Given the description of an element on the screen output the (x, y) to click on. 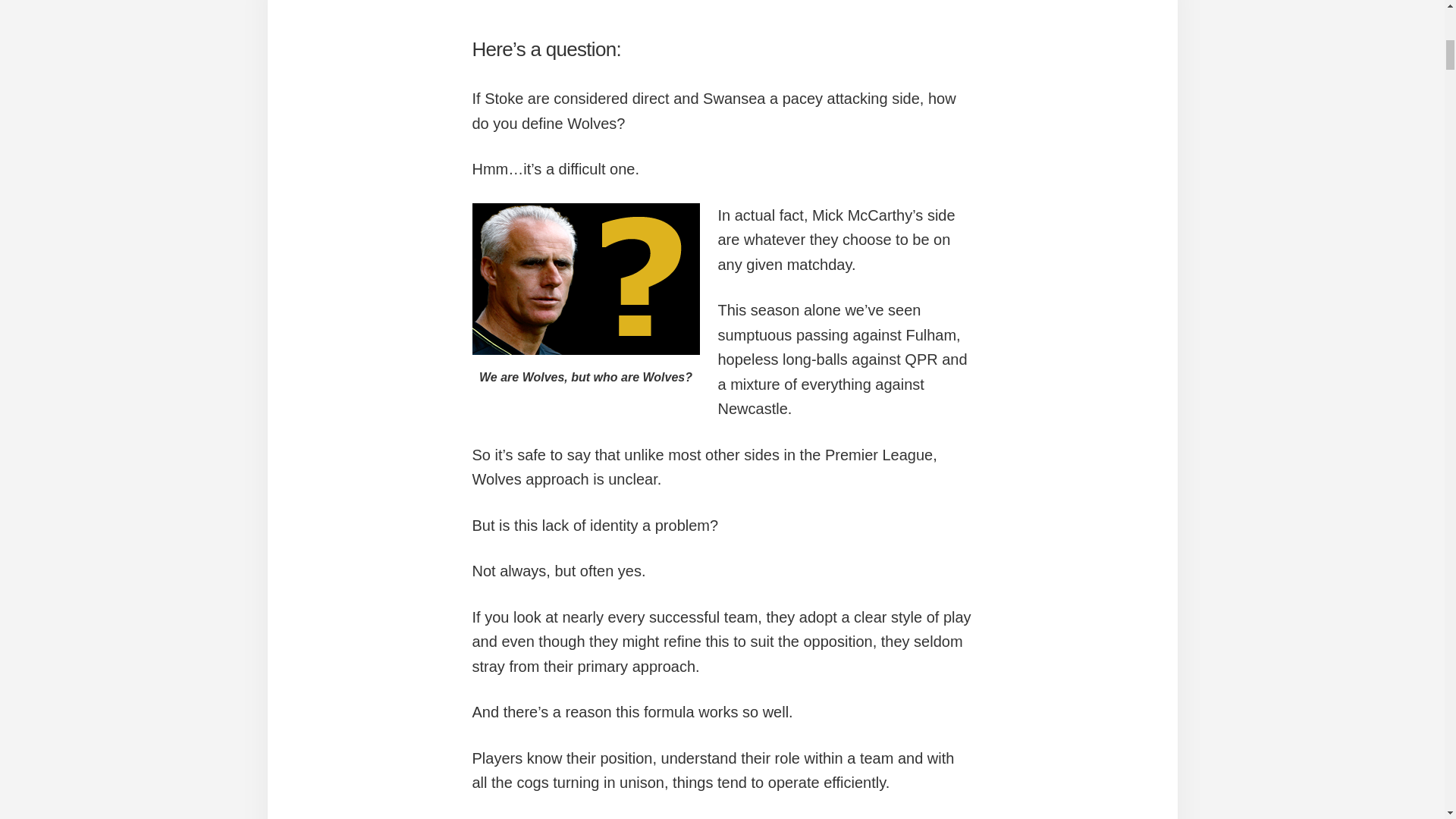
identity (584, 278)
